Given the description of an element on the screen output the (x, y) to click on. 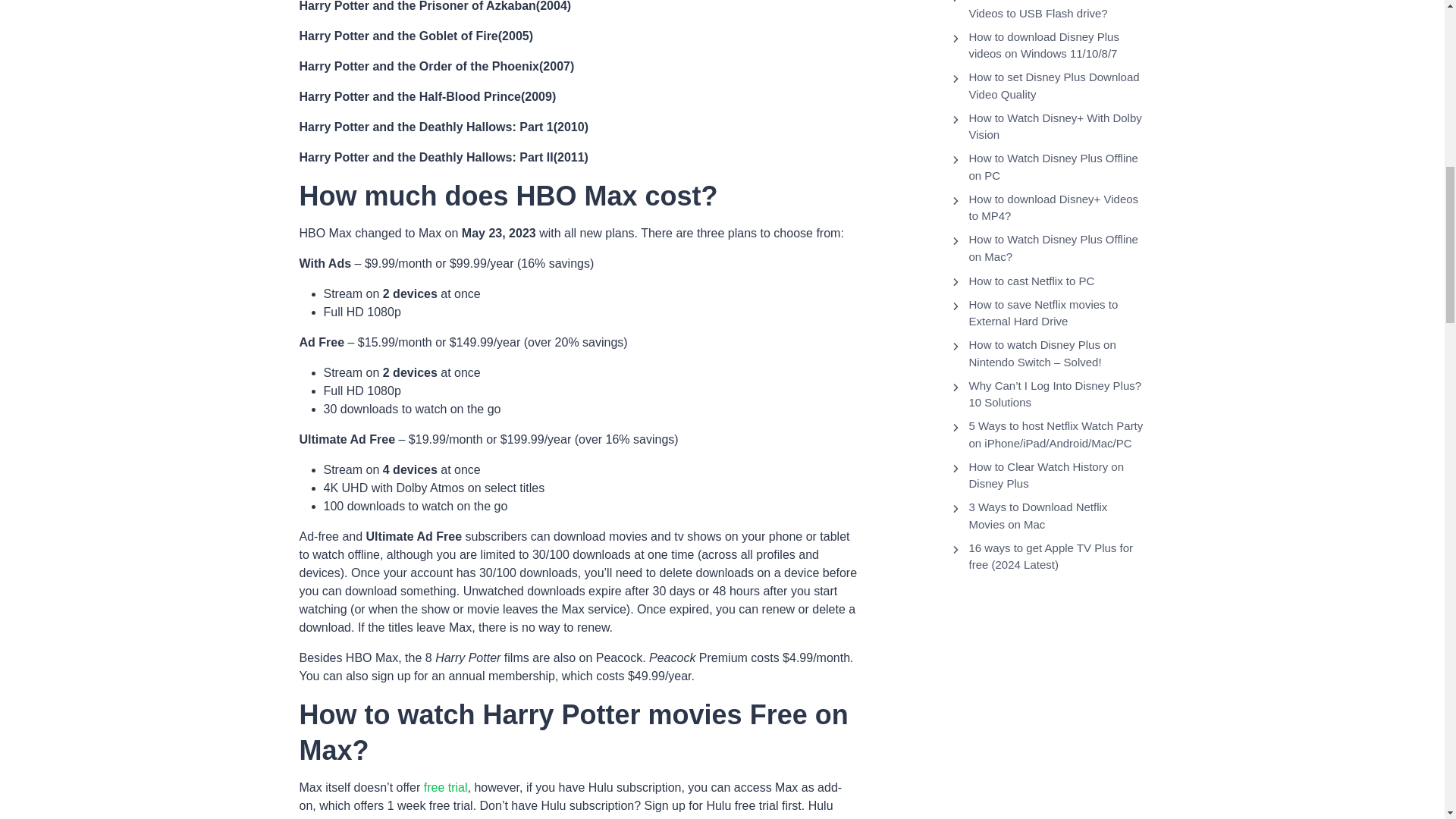
How to download Amazon Prime Videos to USB Flash drive? (1057, 11)
free trial (445, 787)
How to Watch Disney Plus Offline on PC (1057, 166)
How to Watch Disney Plus Offline on Mac? (1057, 247)
How to cast Netflix to PC (1031, 281)
How to set Disney Plus Download Video Quality (1057, 85)
one month free trial (413, 818)
How to save Netflix movies to External Hard Drive (1057, 313)
